Given the description of an element on the screen output the (x, y) to click on. 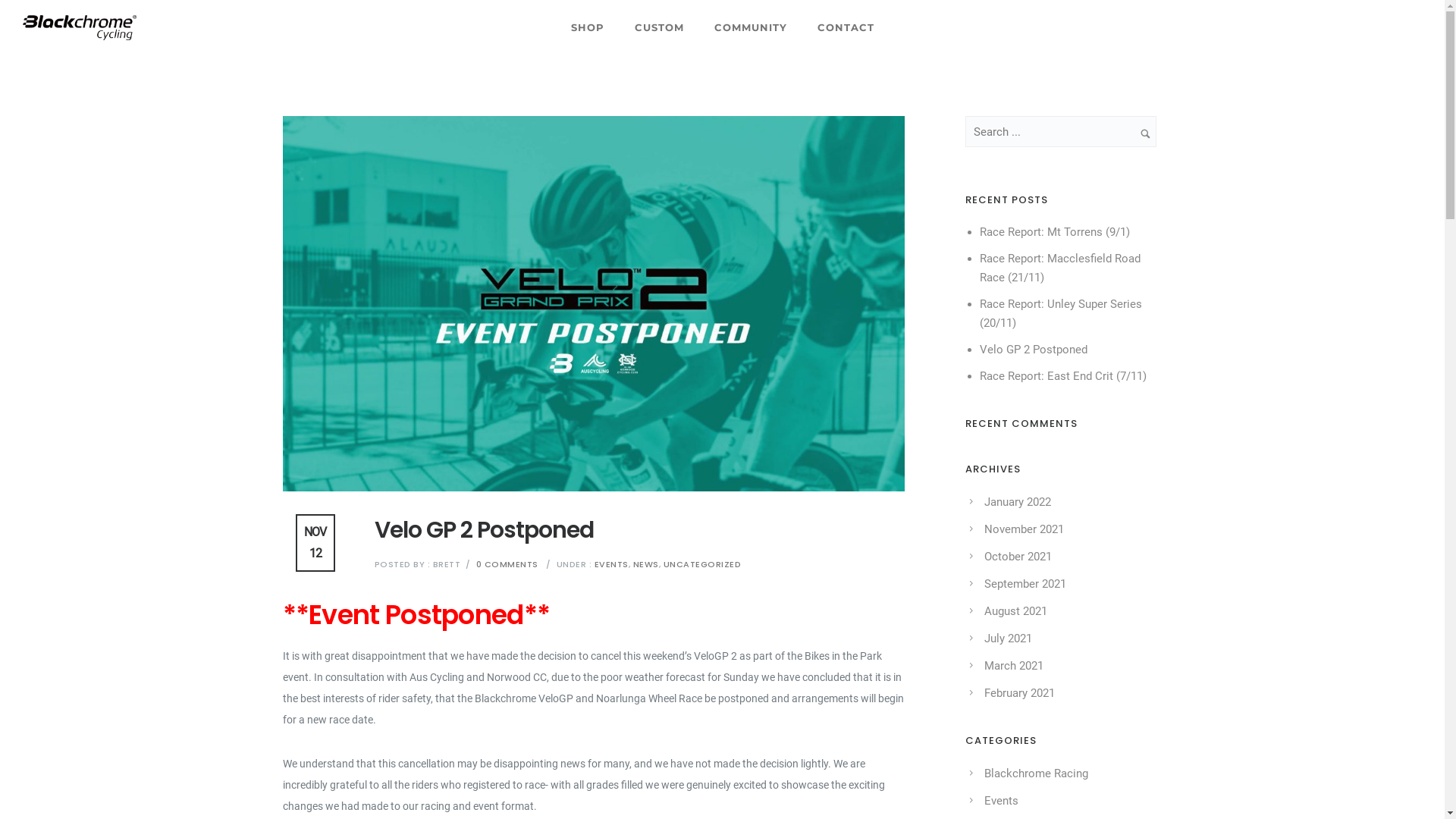
September 2021 Element type: text (1025, 583)
Race Report: East End Crit (7/11) Element type: text (1062, 375)
July 2021 Element type: text (1008, 638)
Race Report: Mt Torrens (9/1) Element type: text (1054, 231)
SHOP Element type: text (586, 27)
UNCATEGORIZED Element type: text (701, 564)
COMMUNITY Element type: text (750, 27)
November 2021 Element type: text (1023, 529)
CONTACT Element type: text (845, 27)
Events Element type: text (1001, 800)
August 2021 Element type: text (1015, 611)
CUSTOM Element type: text (658, 27)
EVENTS Element type: text (609, 564)
Velo GP 2 Postponed Element type: text (483, 530)
March 2021 Element type: text (1013, 665)
October 2021 Element type: text (1017, 556)
Race Report: Unley Super Series (20/11) Element type: text (1060, 313)
NEWS Element type: text (645, 564)
January 2022 Element type: text (1017, 501)
Blackchrome Racing Element type: text (1036, 773)
0 COMMENTS Element type: text (507, 564)
February 2021 Element type: text (1019, 692)
Velo GP 2 Postponed Element type: text (1033, 349)
Race Report: Macclesfield Road Race (21/11) Element type: text (1059, 267)
